Given the description of an element on the screen output the (x, y) to click on. 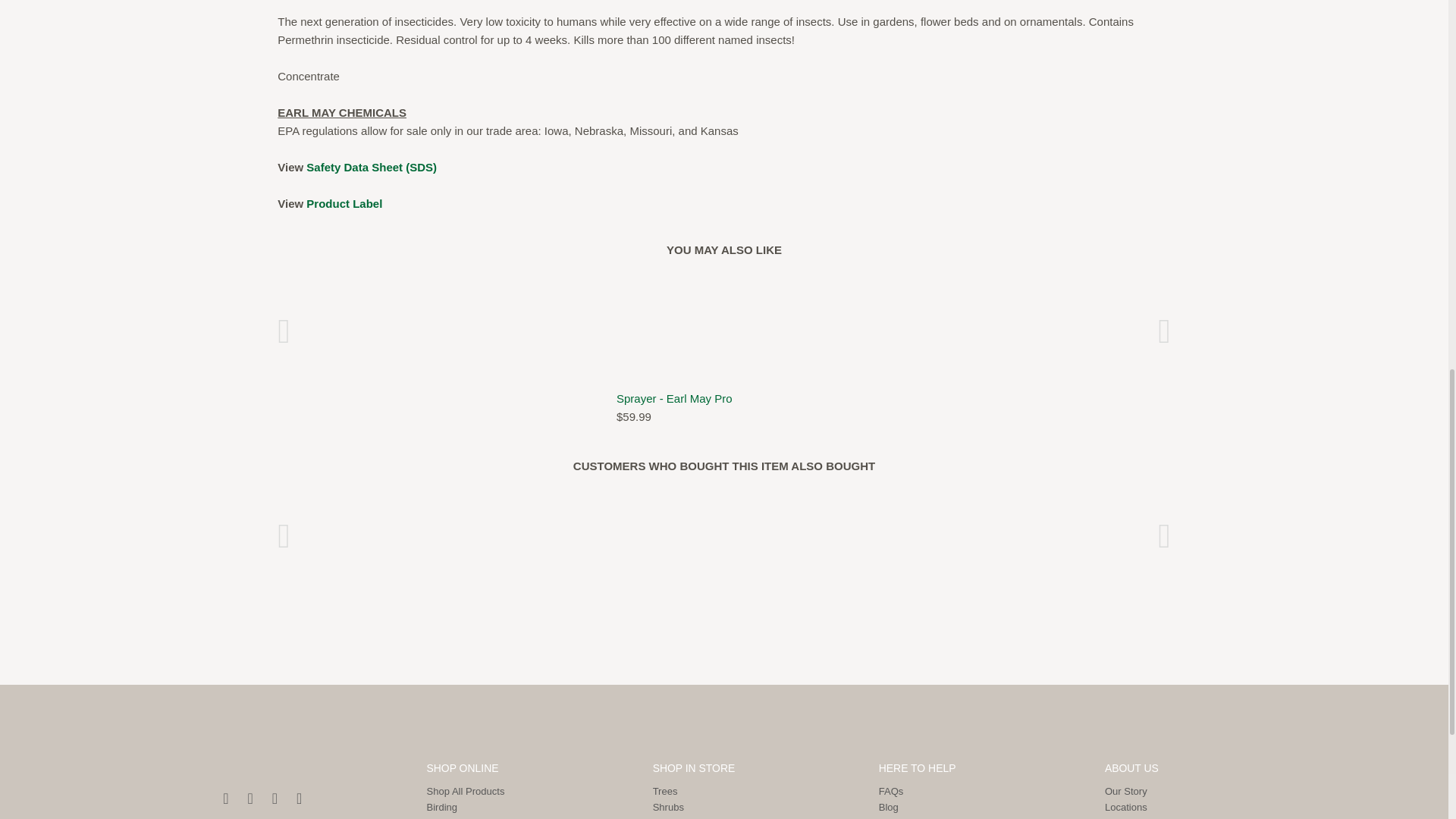
Label (343, 203)
Label (370, 166)
